Given the description of an element on the screen output the (x, y) to click on. 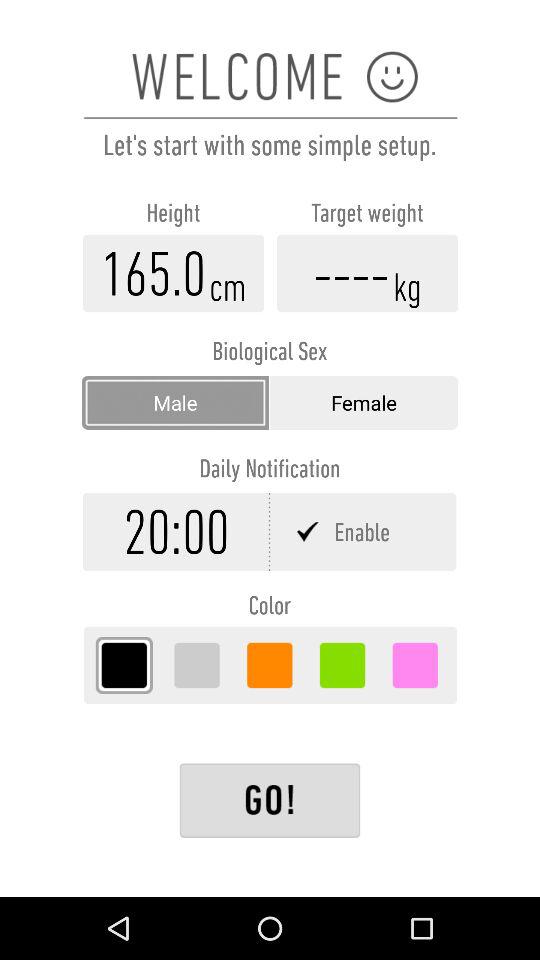
sets color to black (124, 665)
